Given the description of an element on the screen output the (x, y) to click on. 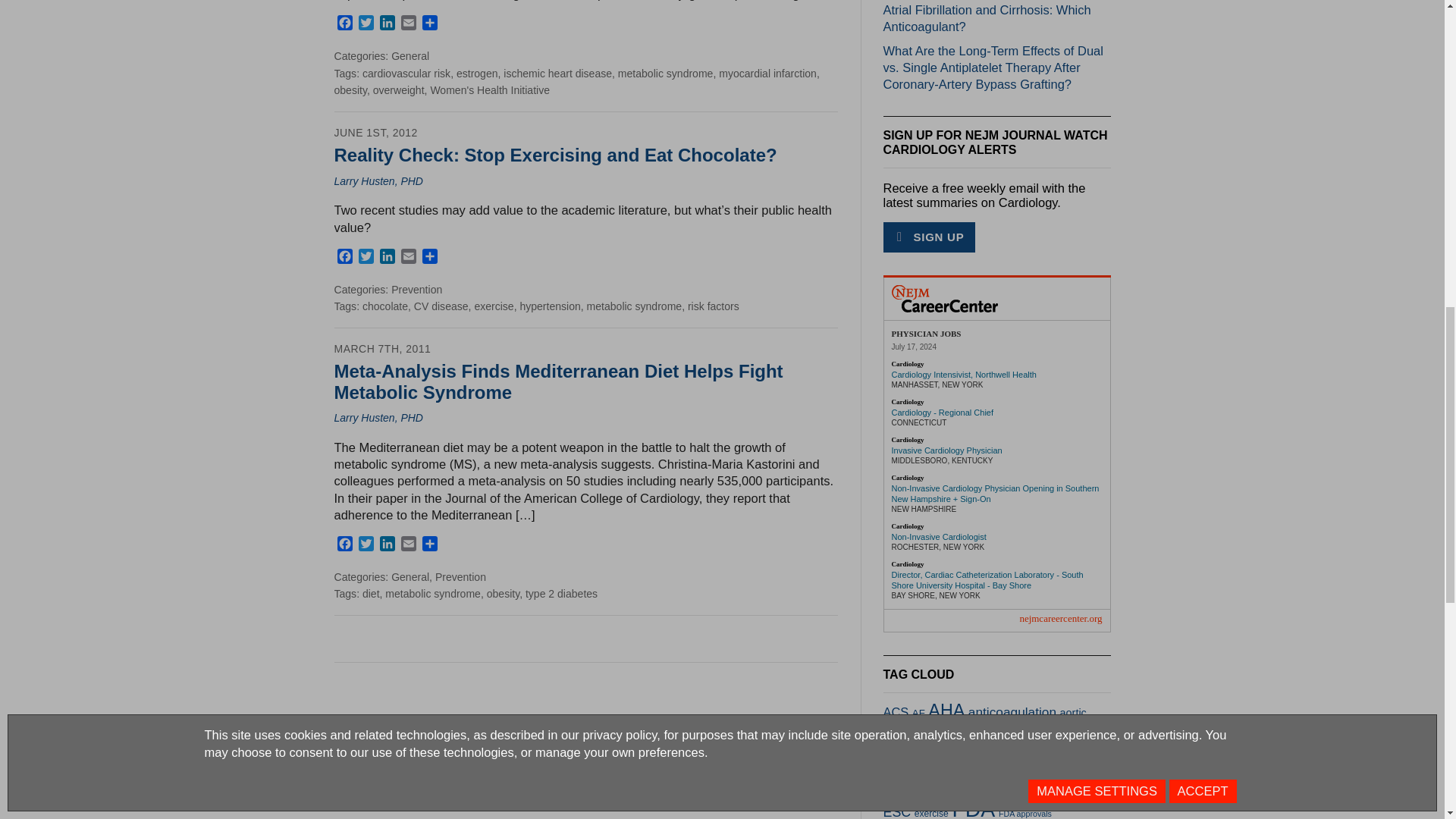
Twitter (365, 25)
Facebook (344, 25)
